Given the description of an element on the screen output the (x, y) to click on. 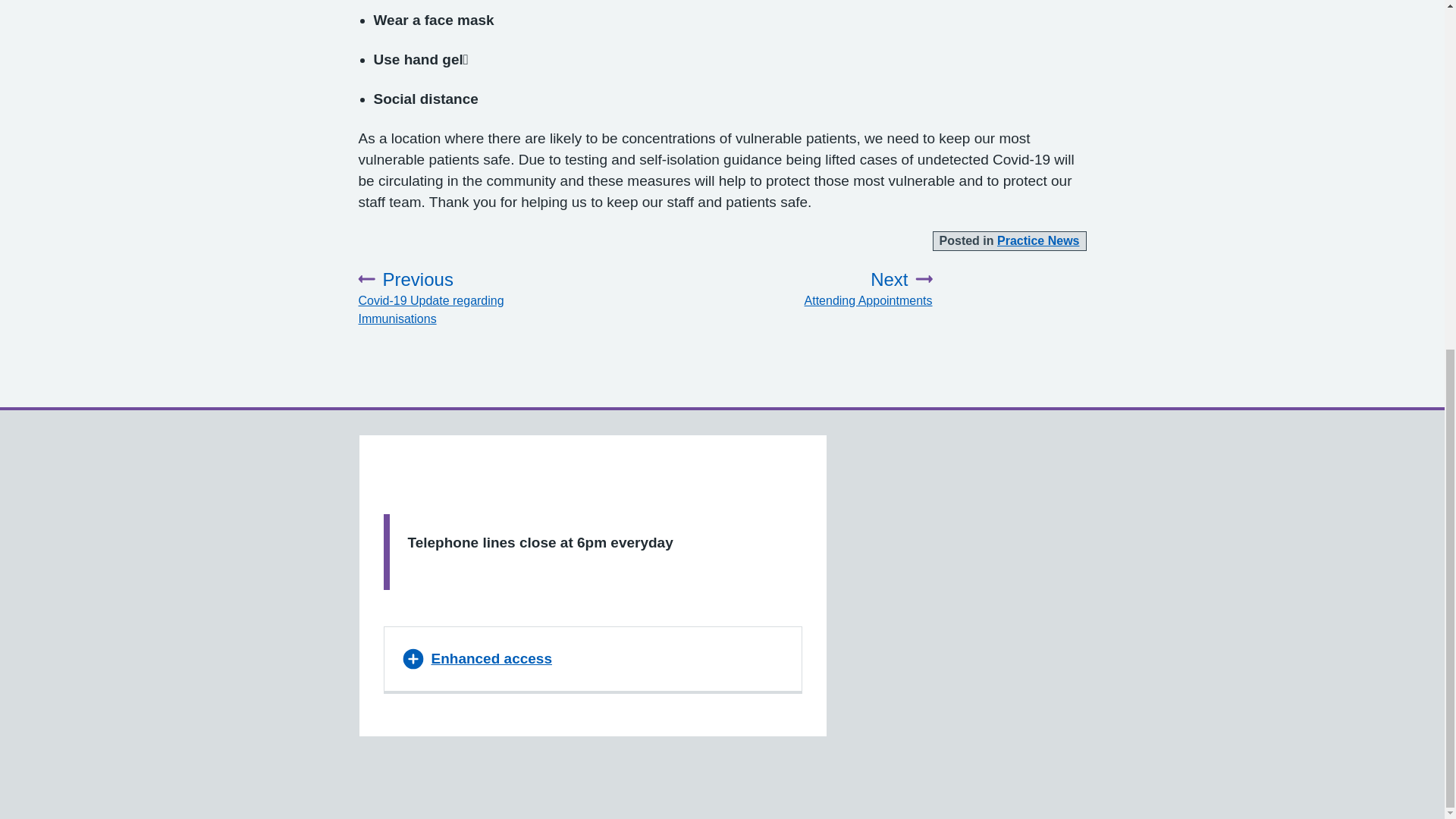
Practice News (823, 288)
